Given the description of an element on the screen output the (x, y) to click on. 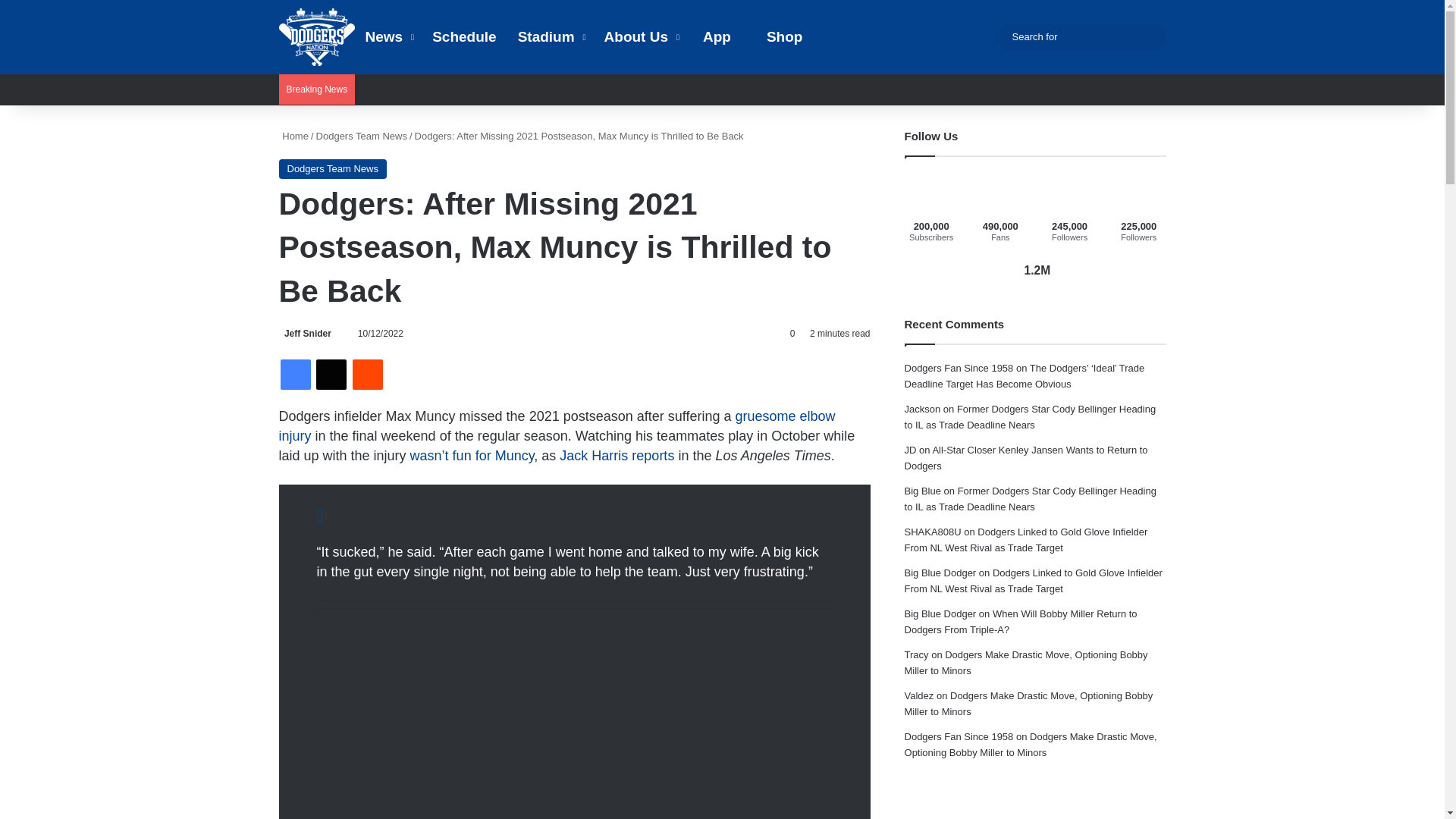
News (388, 37)
About Us (640, 37)
Search for (1080, 36)
Home (293, 135)
Dodgers Nation (317, 37)
Shop (777, 37)
Stadium (550, 37)
Dodgers Team News (361, 135)
Facebook (296, 374)
Schedule (464, 37)
Jeff Snider (305, 333)
Reddit (367, 374)
Search for (1150, 36)
X (330, 374)
